Given the description of an element on the screen output the (x, y) to click on. 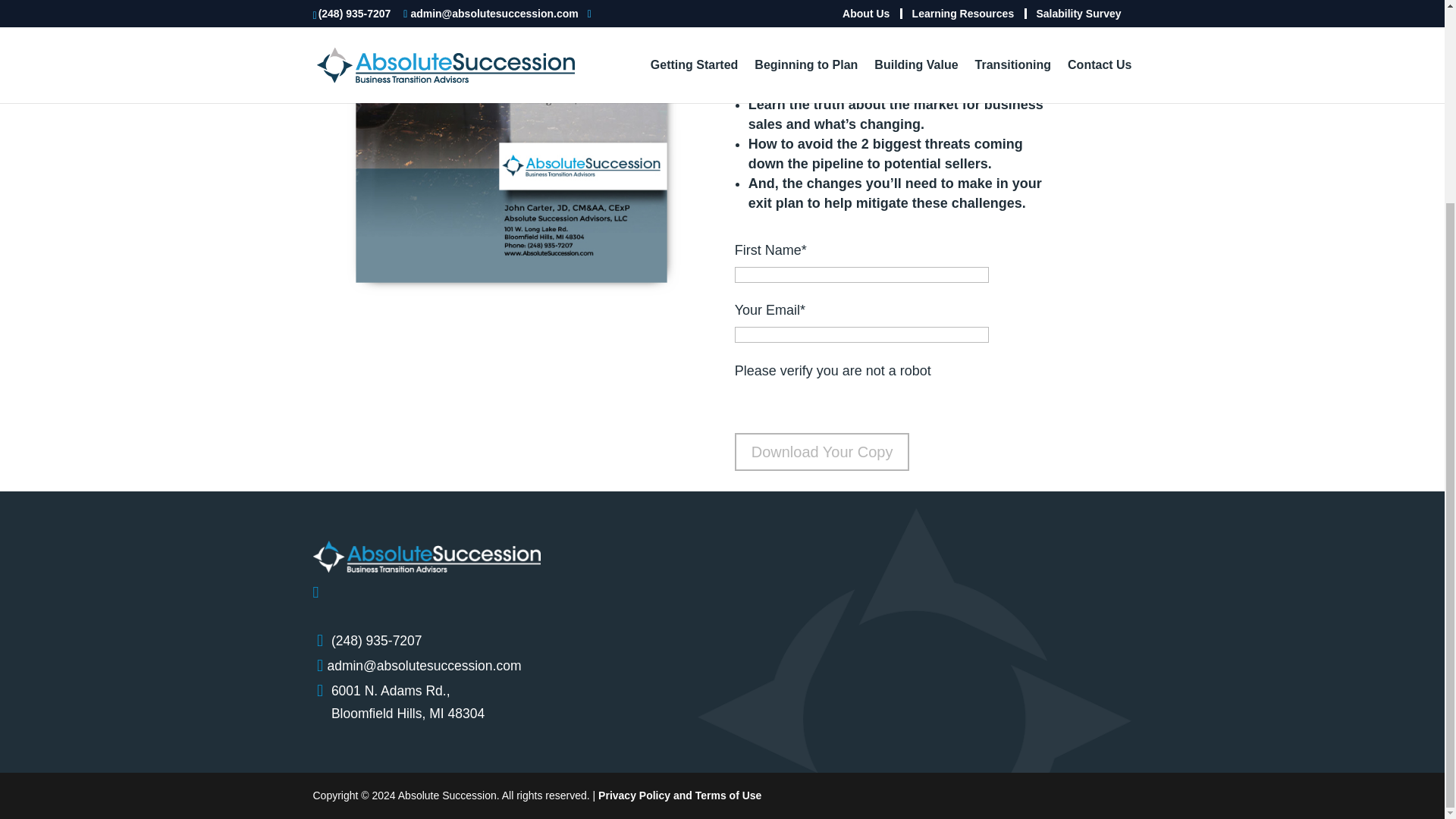
Download Your Copy (822, 451)
as-3-keys-white-paper-cover (511, 149)
Download Your Copy (822, 451)
Privacy Policy and Terms of Use (398, 702)
